Given the description of an element on the screen output the (x, y) to click on. 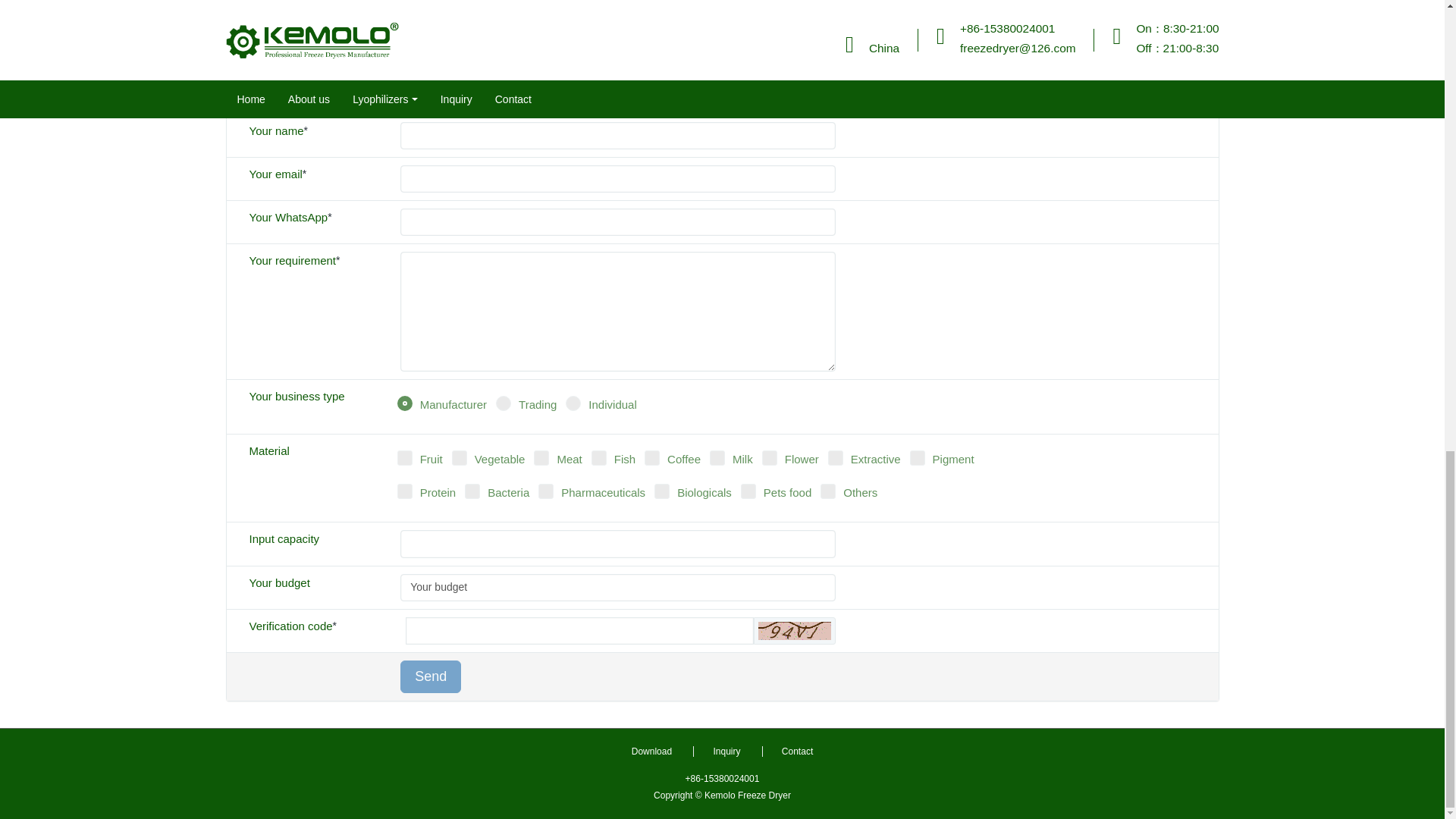
Send (430, 676)
Can (794, 630)
Contact (796, 751)
Inquiry (725, 751)
Next : Industrial freeze dryer (1046, 11)
Industrial freeze dryer (1046, 11)
Contact (796, 751)
Download (651, 751)
Previous : Freeze dry machine for sale (421, 11)
Freeze dry machine for sale (421, 11)
Inquiry (725, 751)
Download (651, 751)
